Given the description of an element on the screen output the (x, y) to click on. 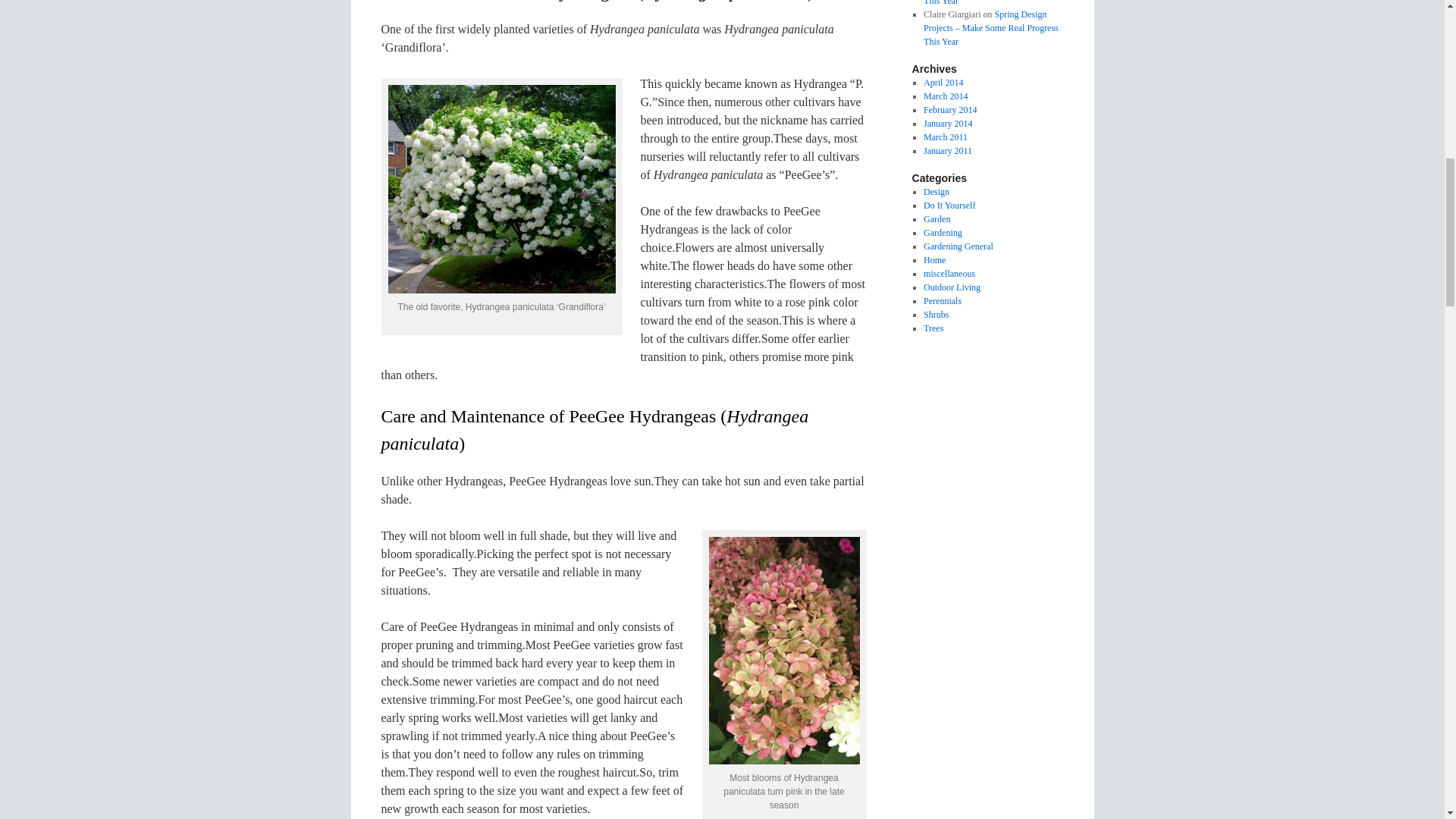
hydrangea paniculata grandiflora 2 (501, 189)
